Given the description of an element on the screen output the (x, y) to click on. 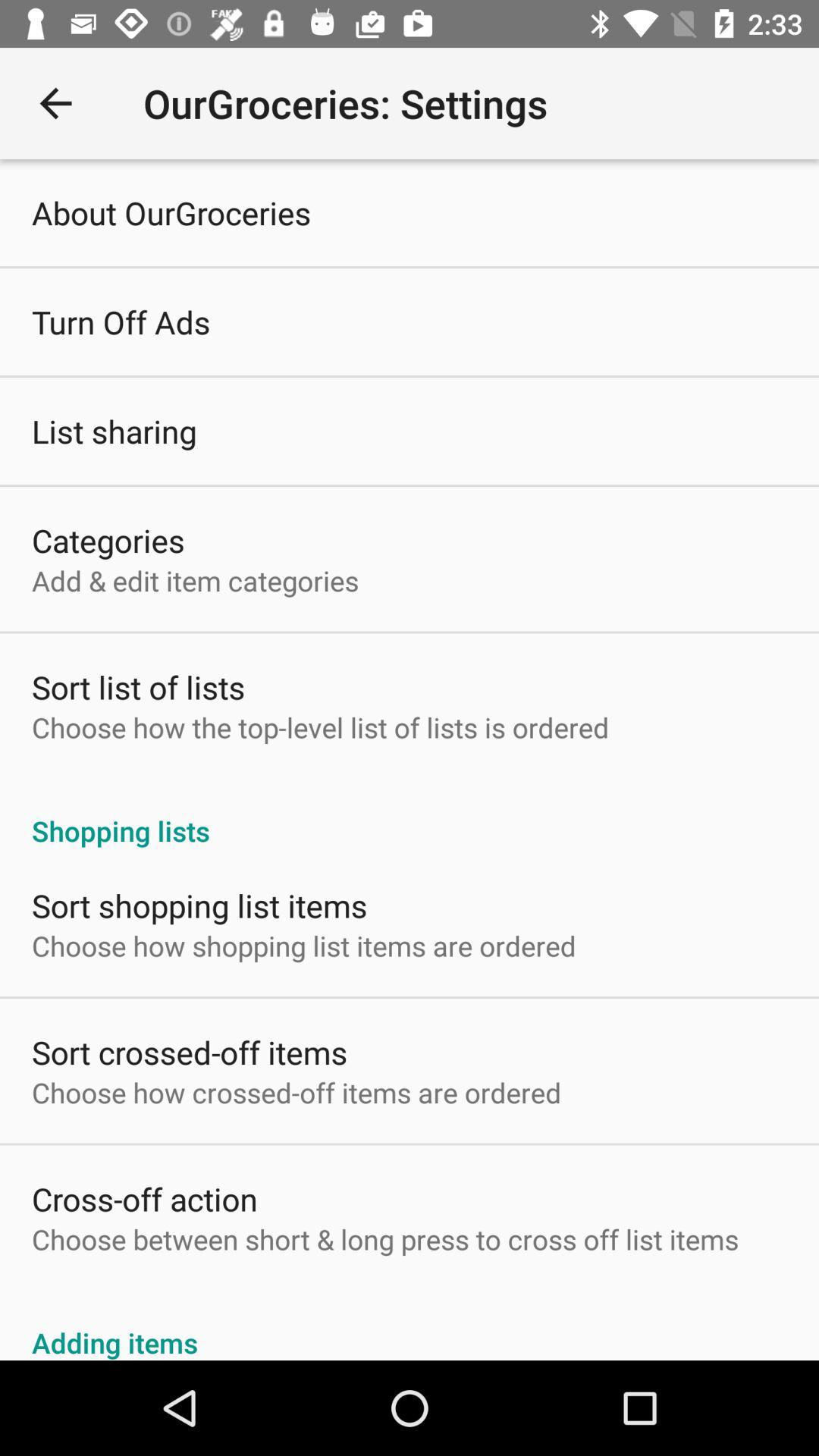
launch the adding items item (409, 1326)
